Given the description of an element on the screen output the (x, y) to click on. 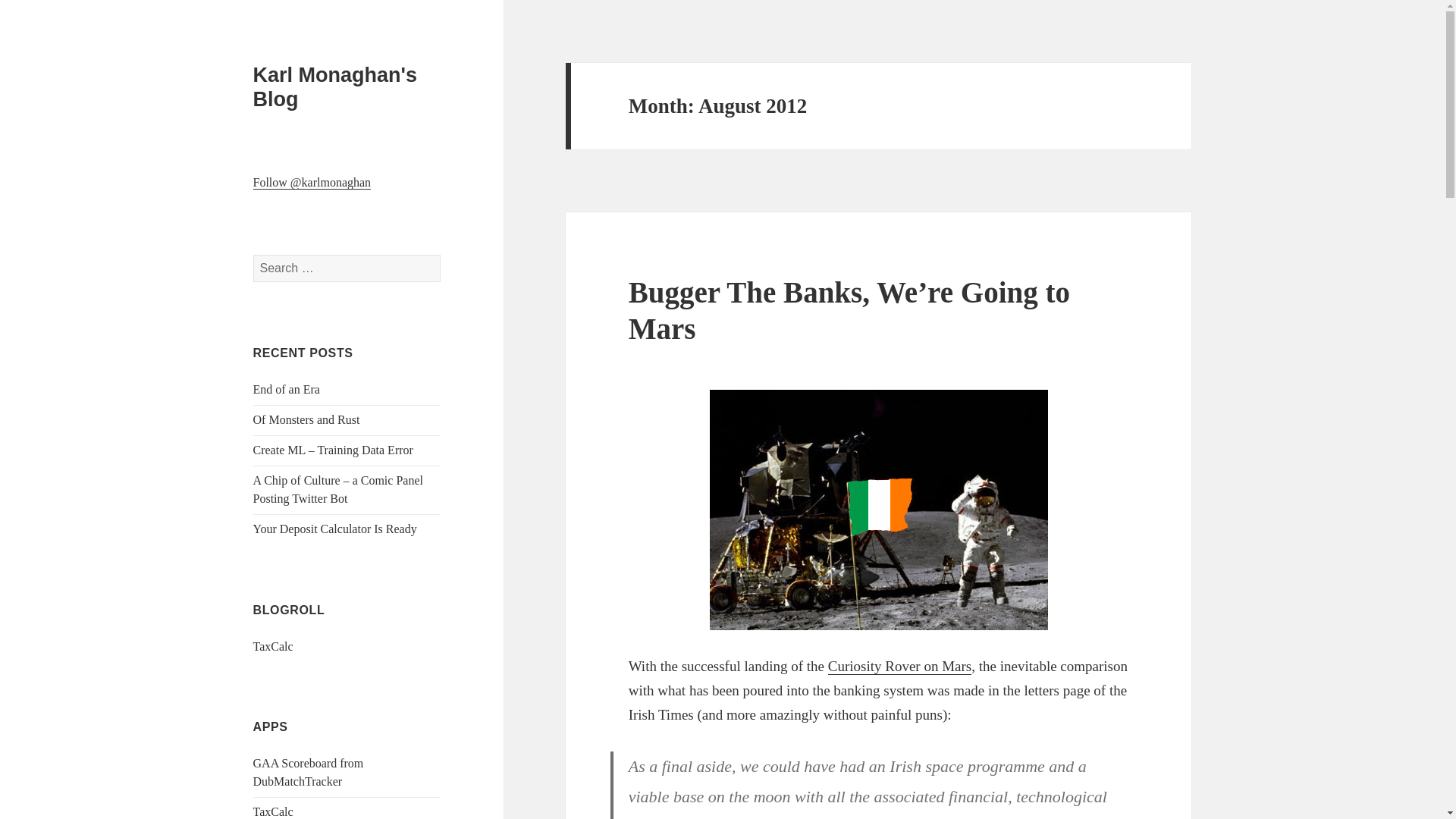
TaxCalc (273, 811)
End of an Era (286, 389)
flag-moon (879, 509)
Karl Monaghan's Blog (334, 86)
Of Monsters and Rust (306, 419)
Your Deposit Calculator Is Ready (334, 528)
GAA Scoreboard from DubMatchTracker (308, 771)
TaxCalc (273, 645)
